Given the description of an element on the screen output the (x, y) to click on. 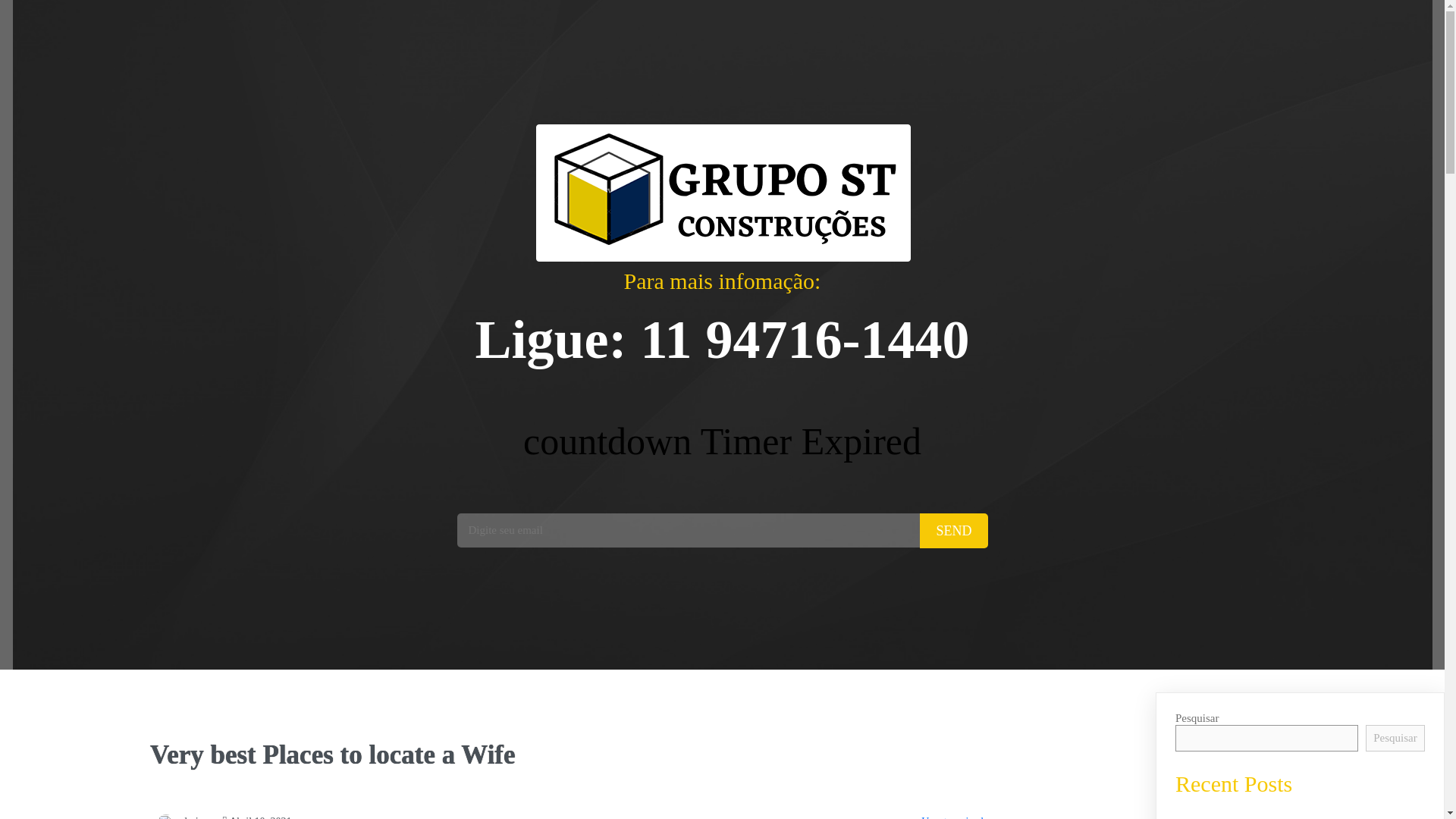
admin (180, 817)
Abril 10, 2021 (257, 817)
Pesquisar (1395, 737)
Uncategorized (952, 817)
SEND (953, 530)
